Given the description of an element on the screen output the (x, y) to click on. 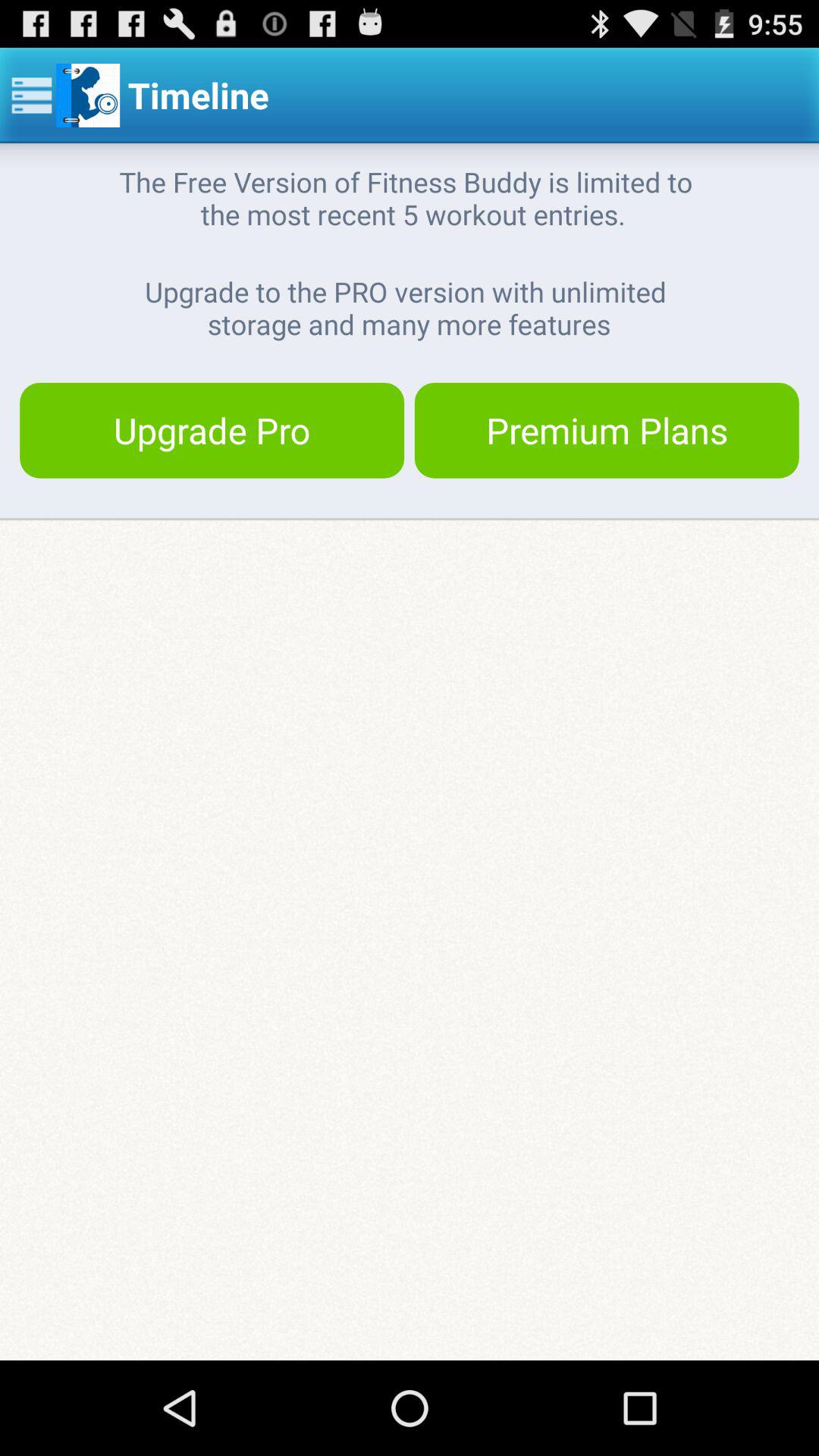
turn on button at the top right corner (606, 430)
